Given the description of an element on the screen output the (x, y) to click on. 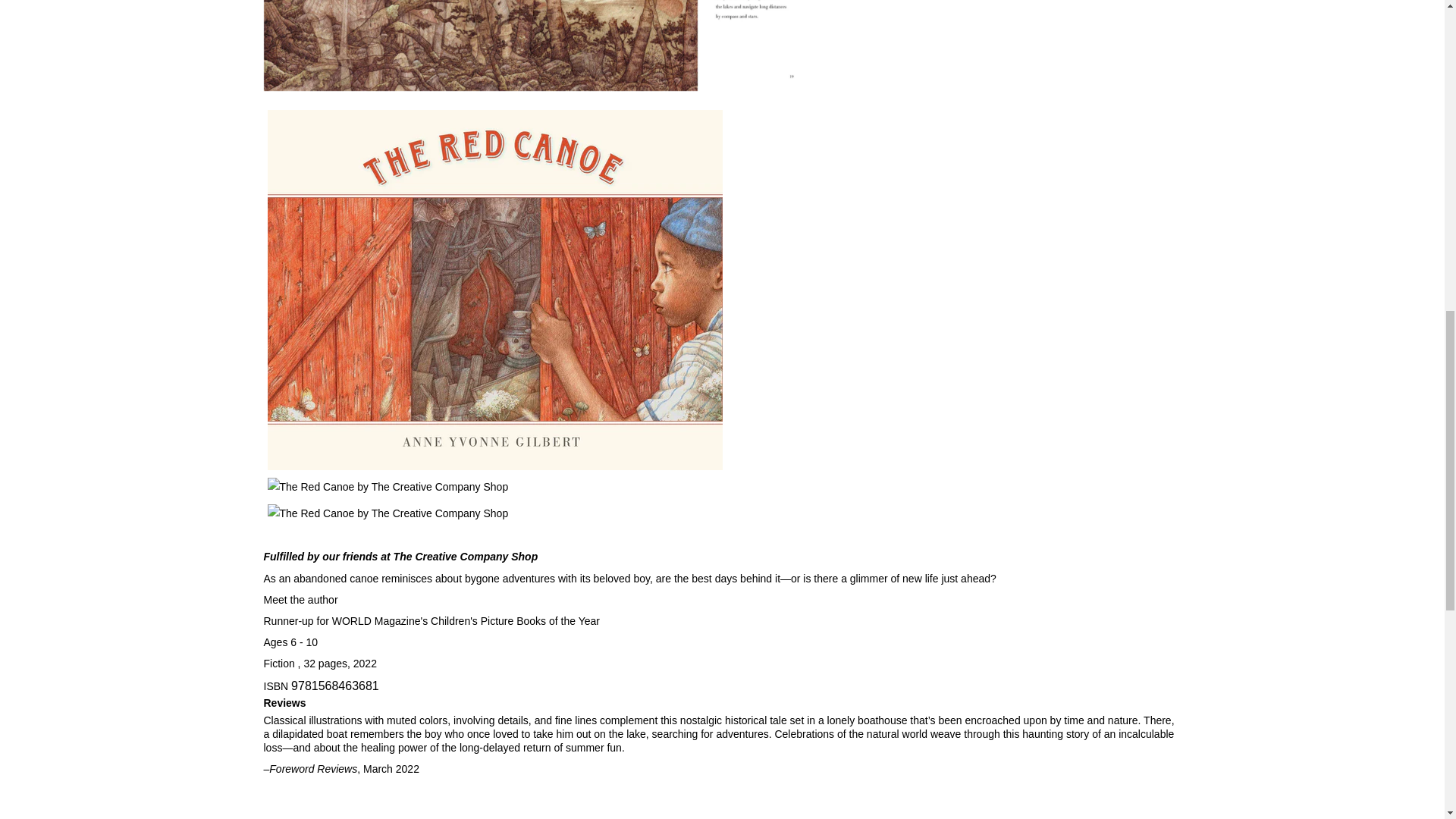
The Red Canoe by The Creative Company Shop (533, 513)
The Red Canoe by The Creative Company Shop (534, 45)
The Red Canoe by The Creative Company Shop (533, 486)
WORLD Magazine Annual Picture Books of the Year (431, 621)
